Given the description of an element on the screen output the (x, y) to click on. 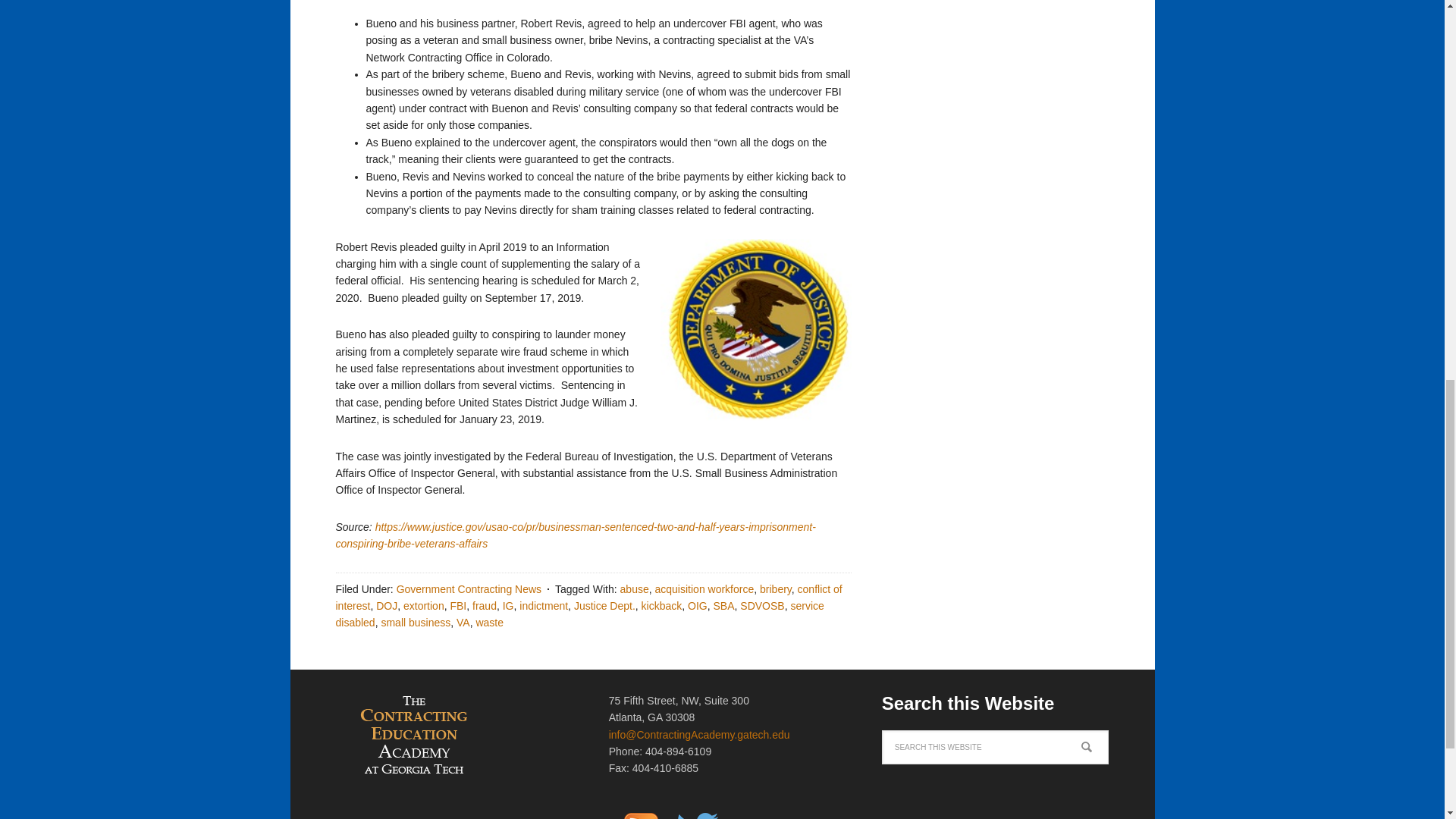
small business (414, 622)
FBI (457, 605)
extortion (423, 605)
VA (463, 622)
conflict of interest (587, 597)
OIG (697, 605)
Government Contracting News (468, 589)
bribery (776, 589)
indictment (543, 605)
